Given the description of an element on the screen output the (x, y) to click on. 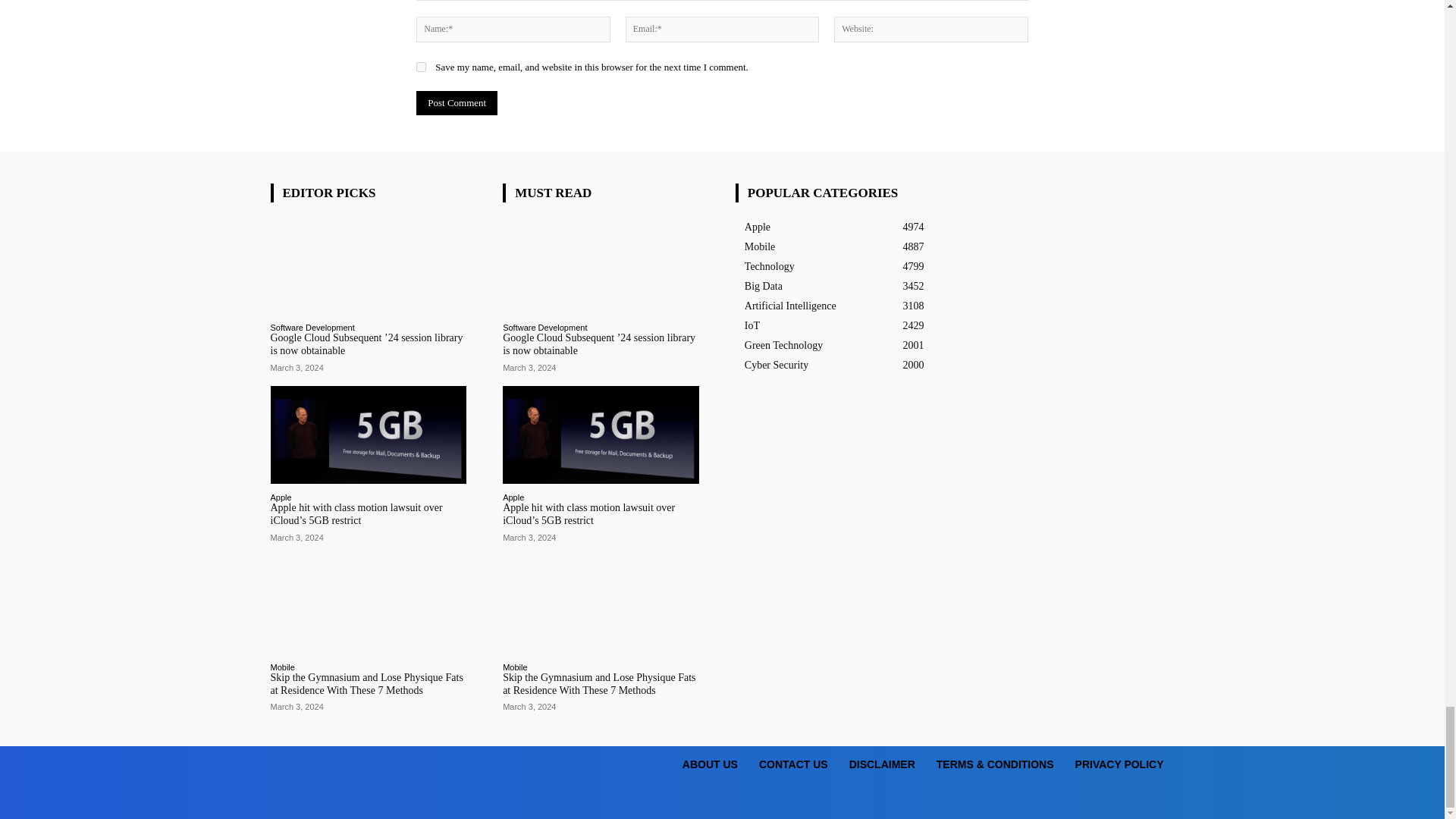
Post Comment (456, 102)
yes (421, 67)
